Given the description of an element on the screen output the (x, y) to click on. 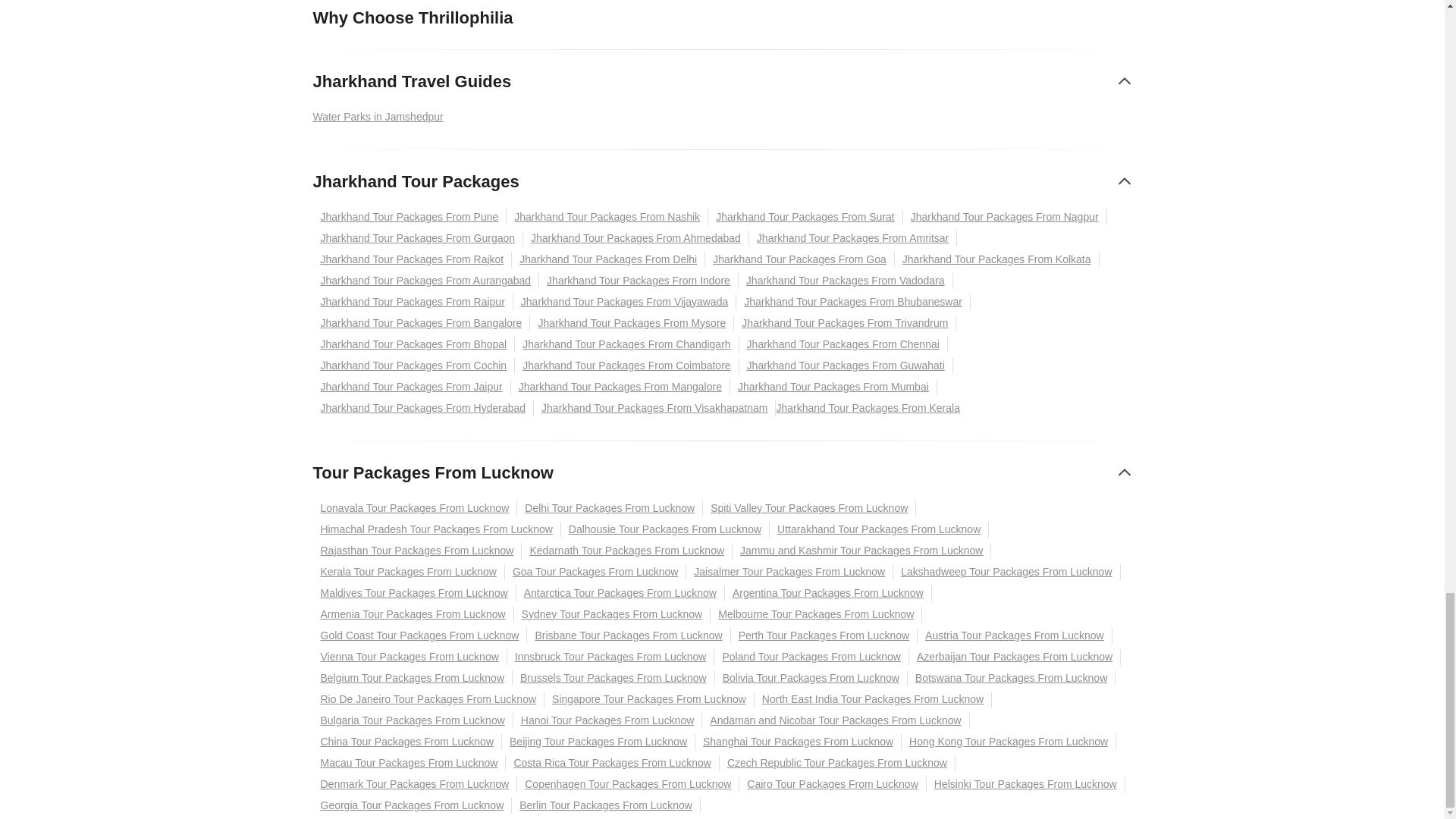
Jharkhand Tour Packages From Mangalore (620, 385)
Jharkhand Tour Packages From Rajkot (412, 258)
Jharkhand Tour Packages From Gurgaon (417, 237)
Jharkhand Tour Packages From Guwahati (846, 365)
Jharkhand Tour Packages From Jaipur (412, 385)
Jharkhand Tour Packages From Amritsar (852, 237)
Jharkhand Tour Packages From Visakhapatnam (655, 407)
Jharkhand Tour Packages From Aurangabad (425, 279)
Water Parks in Jamshedpur (381, 116)
Jharkhand Tour Packages From Nashik (606, 216)
